Given the description of an element on the screen output the (x, y) to click on. 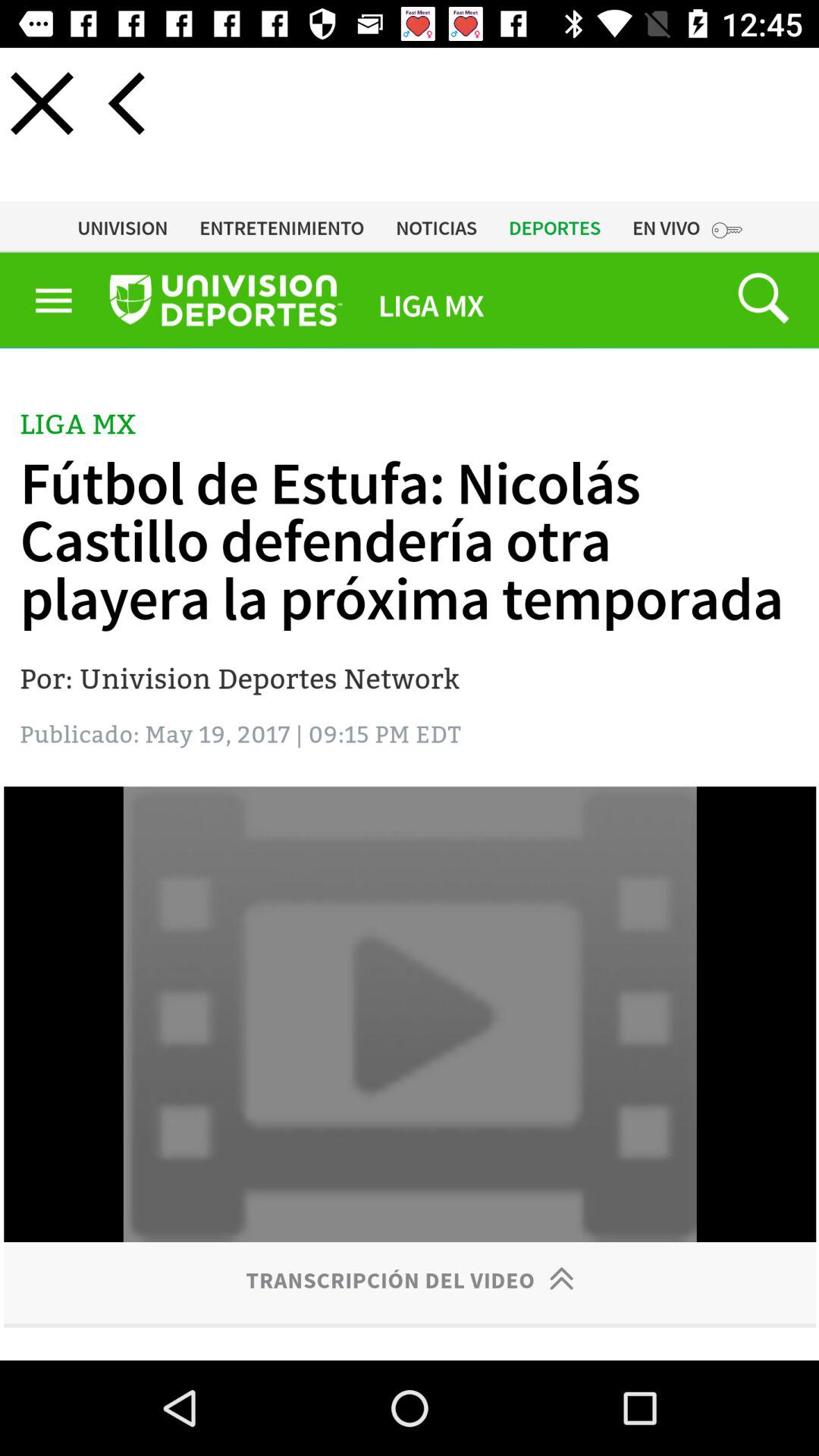
go back (126, 103)
